Given the description of an element on the screen output the (x, y) to click on. 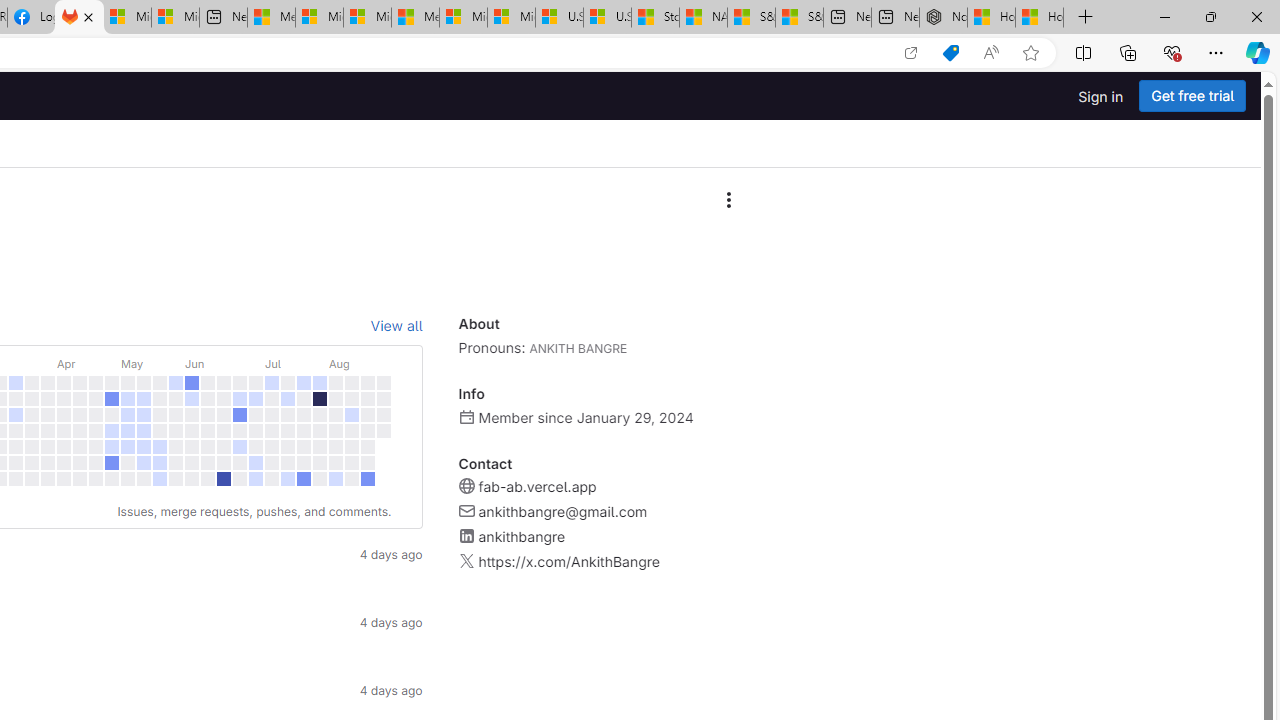
Get free trial (1192, 95)
New Tab (1085, 17)
